Given the description of an element on the screen output the (x, y) to click on. 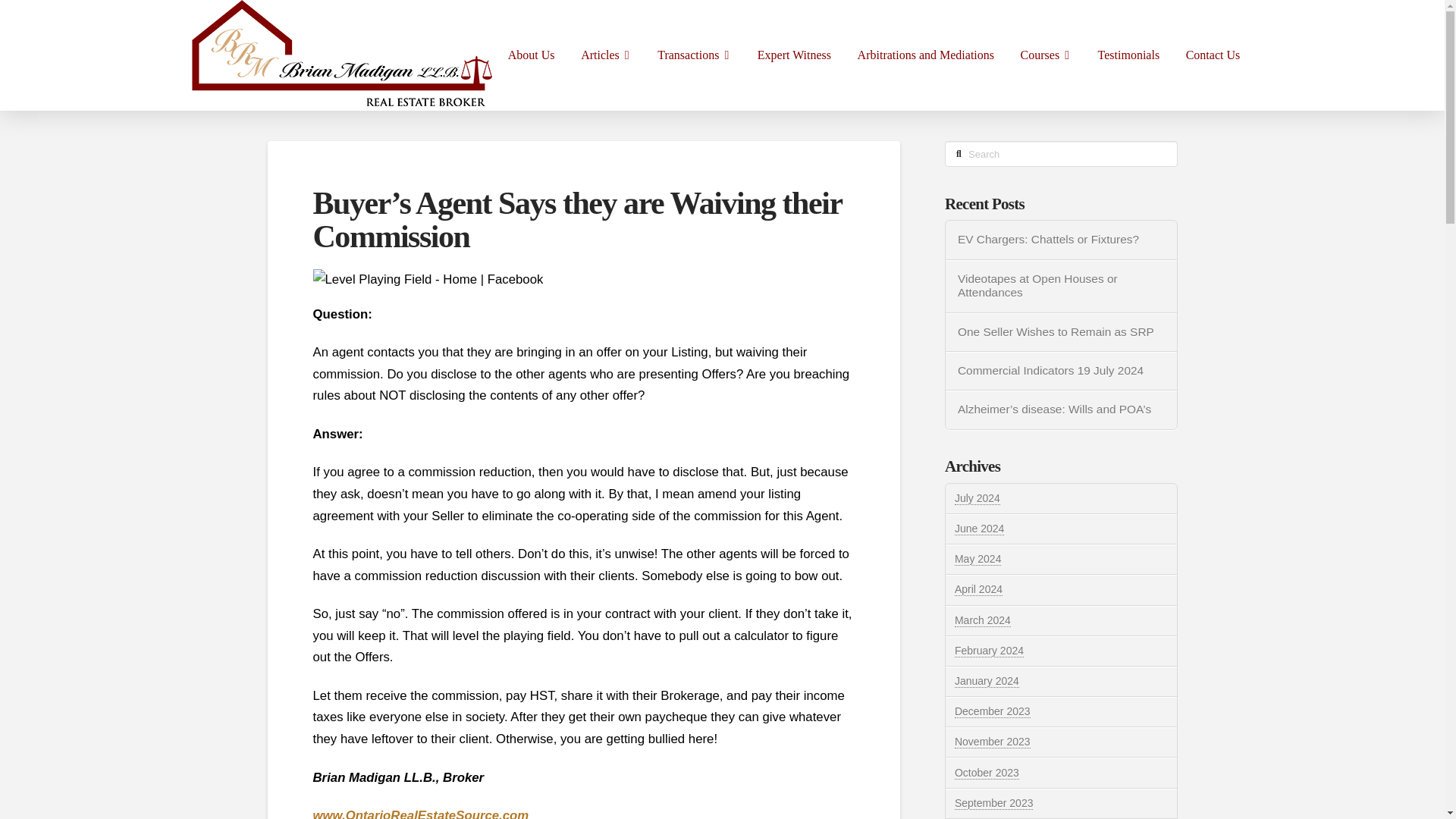
Articles (606, 54)
About Us (531, 54)
Testimonials (1128, 54)
Expert Witness (794, 54)
Arbitrations and Mediations (925, 54)
Transactions (694, 54)
Courses (1045, 54)
Contact Us (1212, 54)
